Given the description of an element on the screen output the (x, y) to click on. 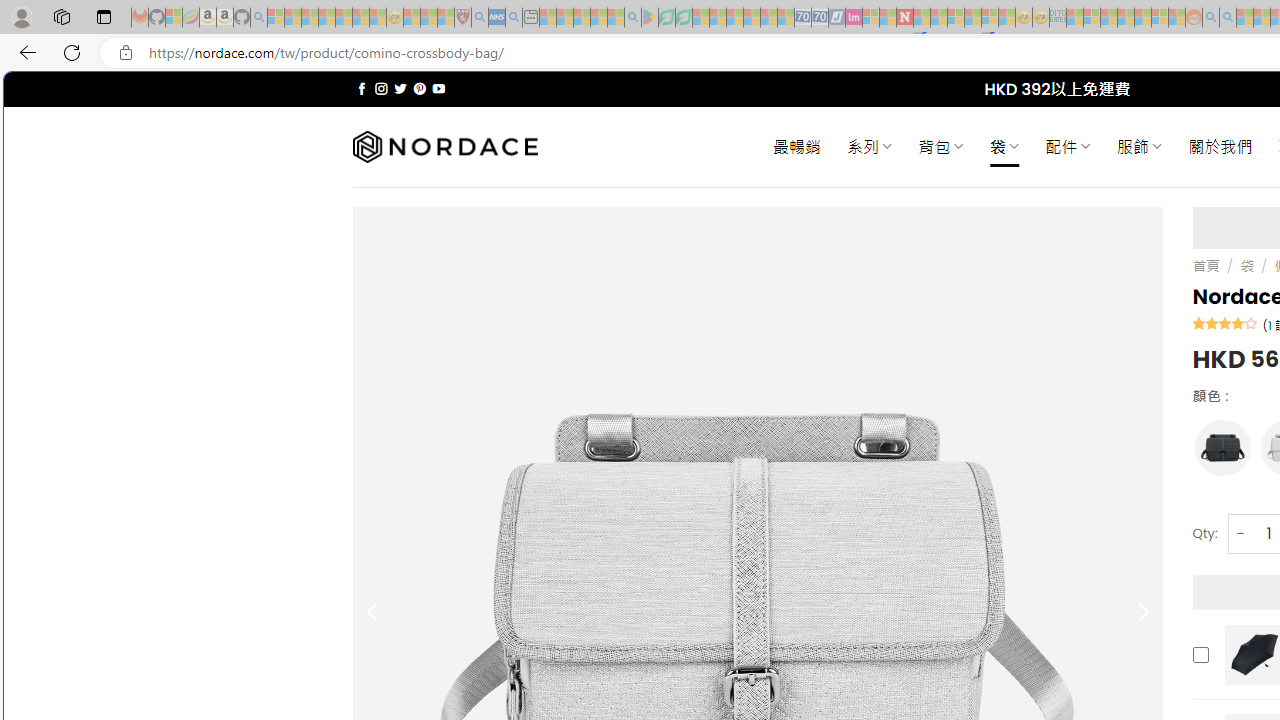
Follow on Pinterest (419, 88)
